Given the description of an element on the screen output the (x, y) to click on. 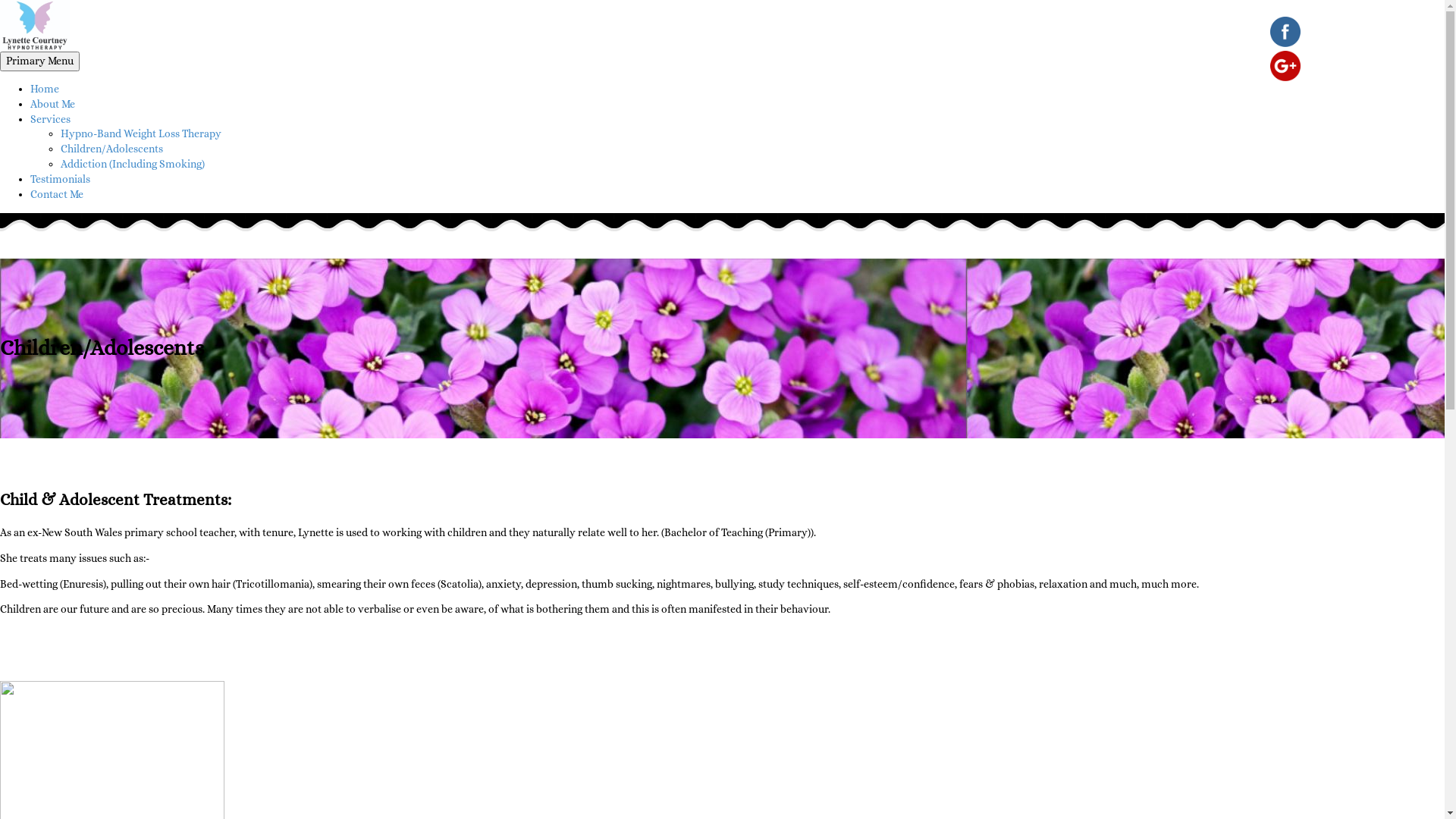
Services Element type: text (50, 118)
Testimonials Element type: text (60, 178)
Facebook Element type: hover (1285, 31)
Google+ Element type: hover (1285, 65)
Contact Me Element type: text (56, 194)
Children/Adolescents Element type: text (111, 148)
Hypno-Band Weight Loss Therapy Element type: text (140, 133)
About Me Element type: text (52, 103)
Addiction (Including Smoking) Element type: text (132, 163)
Home Element type: text (44, 88)
Primary Menu Element type: text (39, 61)
